Given the description of an element on the screen output the (x, y) to click on. 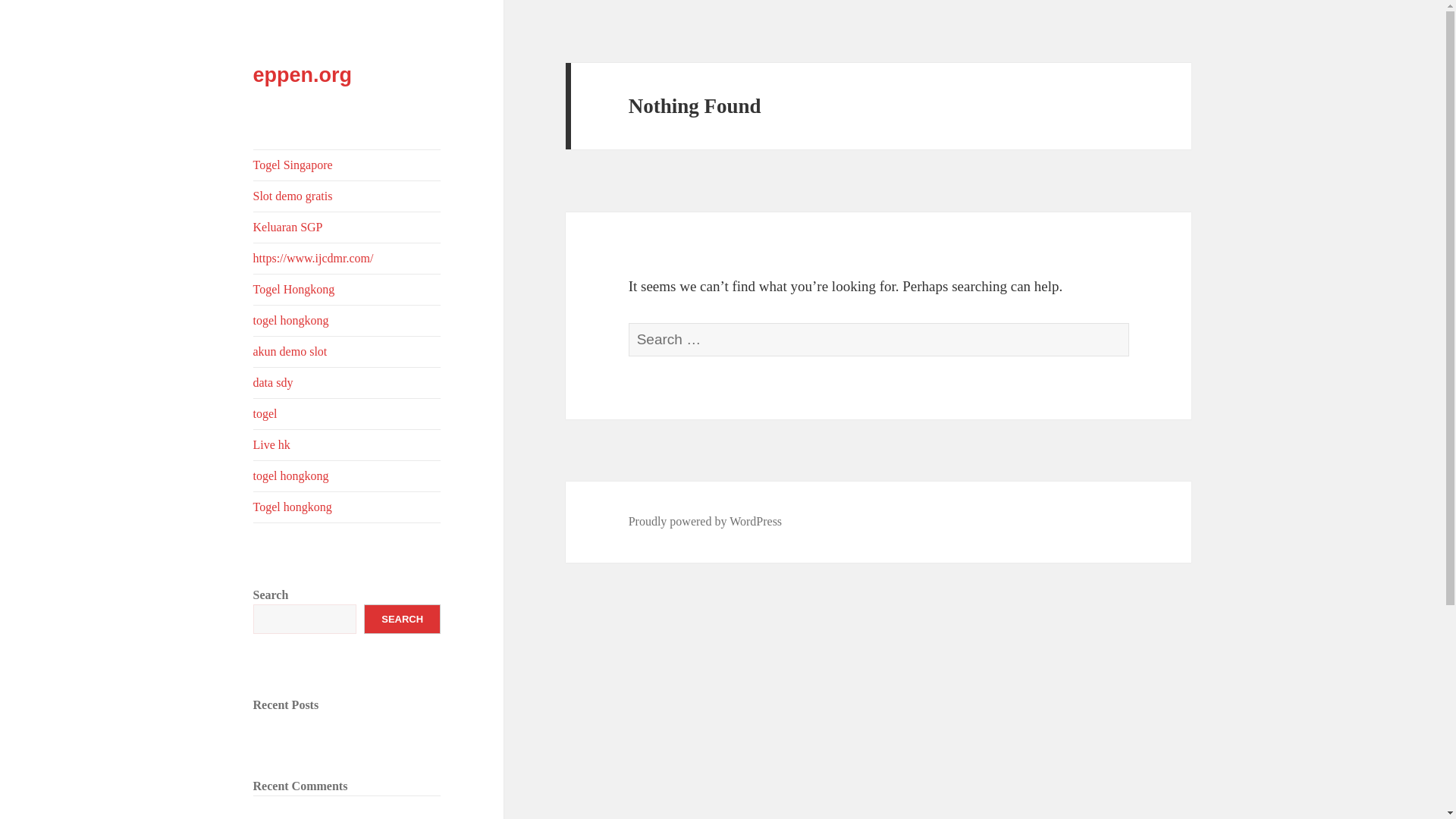
togel hongkong (347, 476)
data sdy (347, 382)
akun demo slot (347, 351)
Proudly powered by WordPress (704, 521)
Keluaran SGP (347, 227)
SEARCH (402, 618)
Slot demo gratis (347, 195)
Live hk (347, 444)
